Given the description of an element on the screen output the (x, y) to click on. 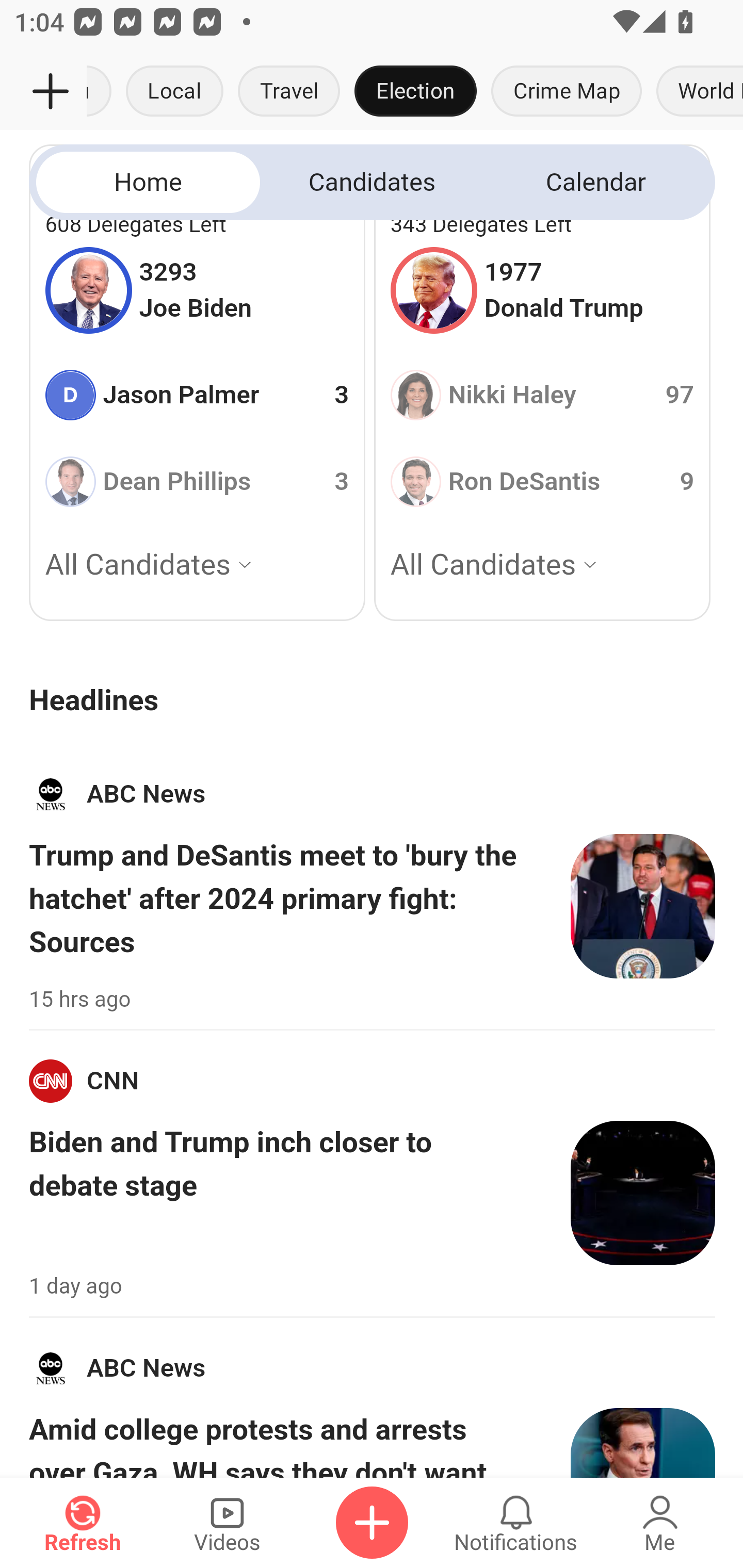
Local (174, 91)
Travel (288, 91)
Election (414, 91)
Crime Map (566, 91)
World News (696, 91)
All Candidates (196, 565)
All Candidates (542, 565)
Videos (227, 1522)
Notifications (516, 1522)
Me (659, 1522)
